Given the description of an element on the screen output the (x, y) to click on. 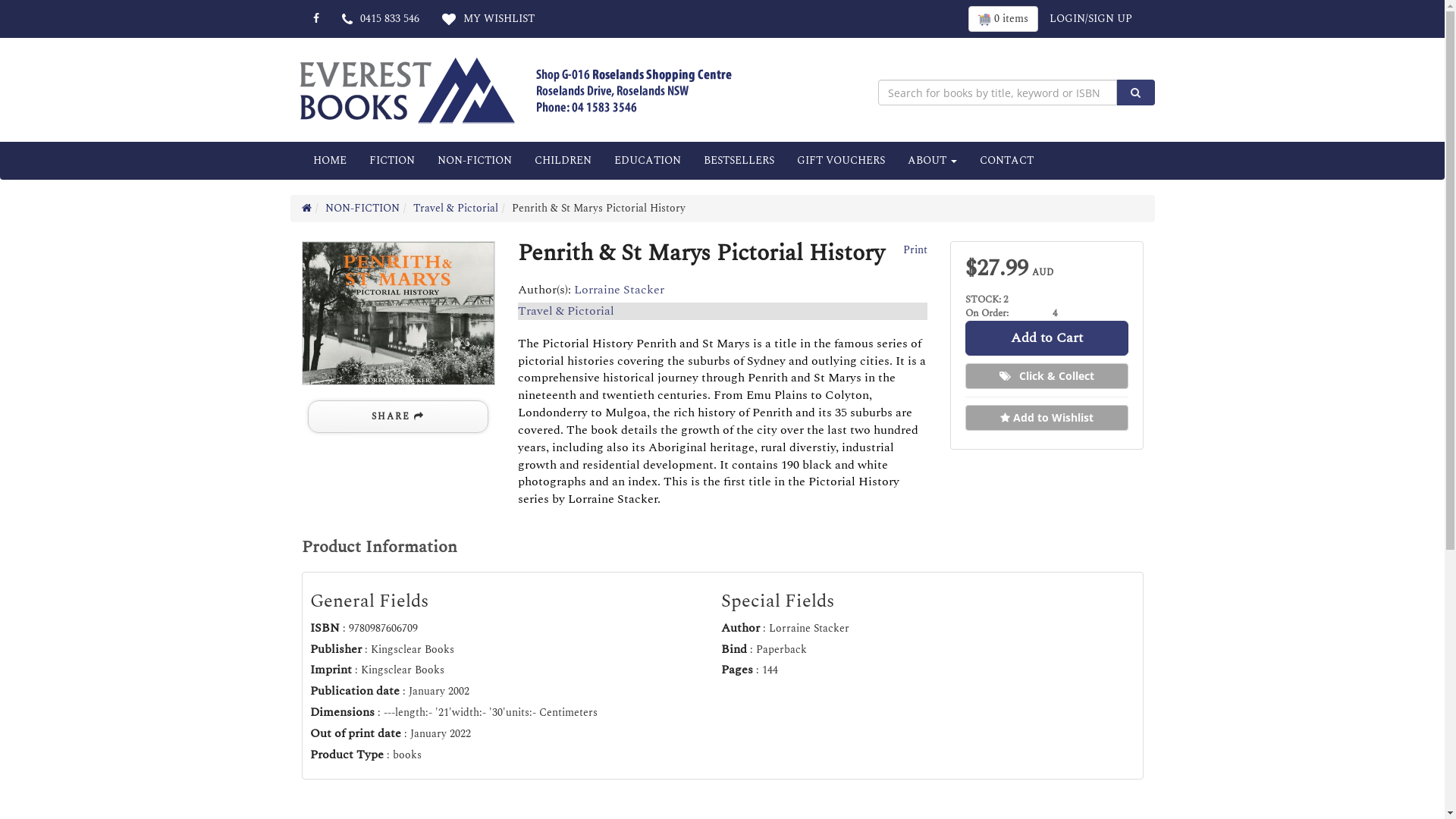
HOME Element type: text (329, 160)
Lorraine Stacker Element type: text (618, 289)
BESTSELLERS Element type: text (737, 160)
NON-FICTION Element type: text (474, 160)
FICTION Element type: text (391, 160)
Add to Cart Element type: text (1045, 337)
Penrith & St Marys Pictorial History Element type: hover (398, 313)
EDUCATION Element type: text (646, 160)
Click & Collect Element type: text (1045, 376)
NON-FICTION Element type: text (361, 208)
Travel & Pictorial Element type: text (565, 310)
0 items Element type: text (1002, 18)
 Print Element type: text (912, 249)
LOGIN/SIGN UP Element type: text (1089, 18)
0415 833 546 Element type: text (380, 18)
SHARE Element type: text (397, 416)
Add to Wishlist Element type: text (1045, 417)
GIFT VOUCHERS Element type: text (840, 160)
Travel & Pictorial Element type: text (454, 208)
CHILDREN Element type: text (562, 160)
0 items Element type: text (1002, 18)
ABOUT  Element type: text (932, 160)
CONTACT Element type: text (1005, 160)
MY WISHLIST Element type: text (488, 18)
